Given the description of an element on the screen output the (x, y) to click on. 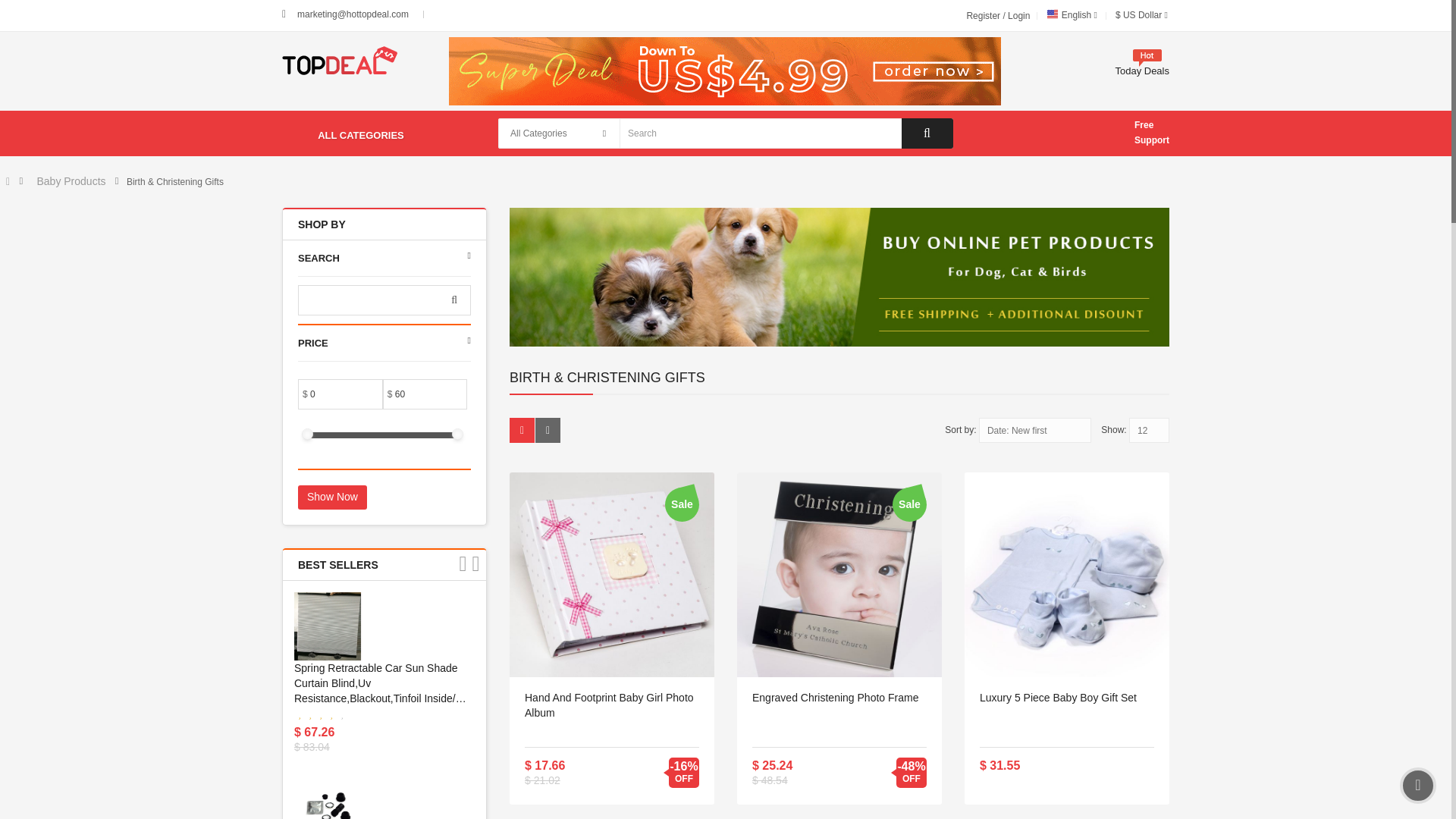
Login (1018, 15)
English (1052, 14)
0 (328, 394)
Register (984, 15)
English  (1070, 15)
Today Deals (1142, 71)
60 (413, 394)
HotTopDeal (339, 60)
